Given the description of an element on the screen output the (x, y) to click on. 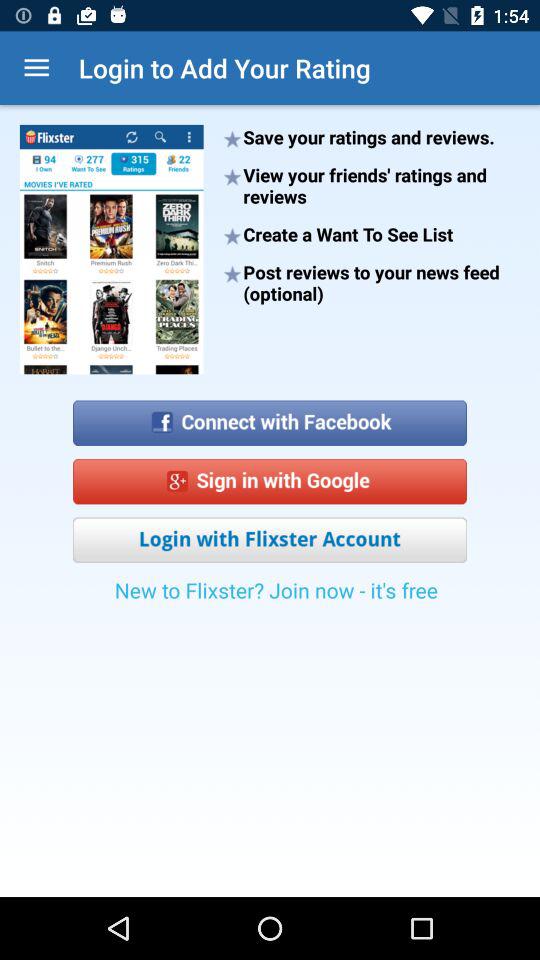
choose item above new to flixster icon (270, 539)
